Given the description of an element on the screen output the (x, y) to click on. 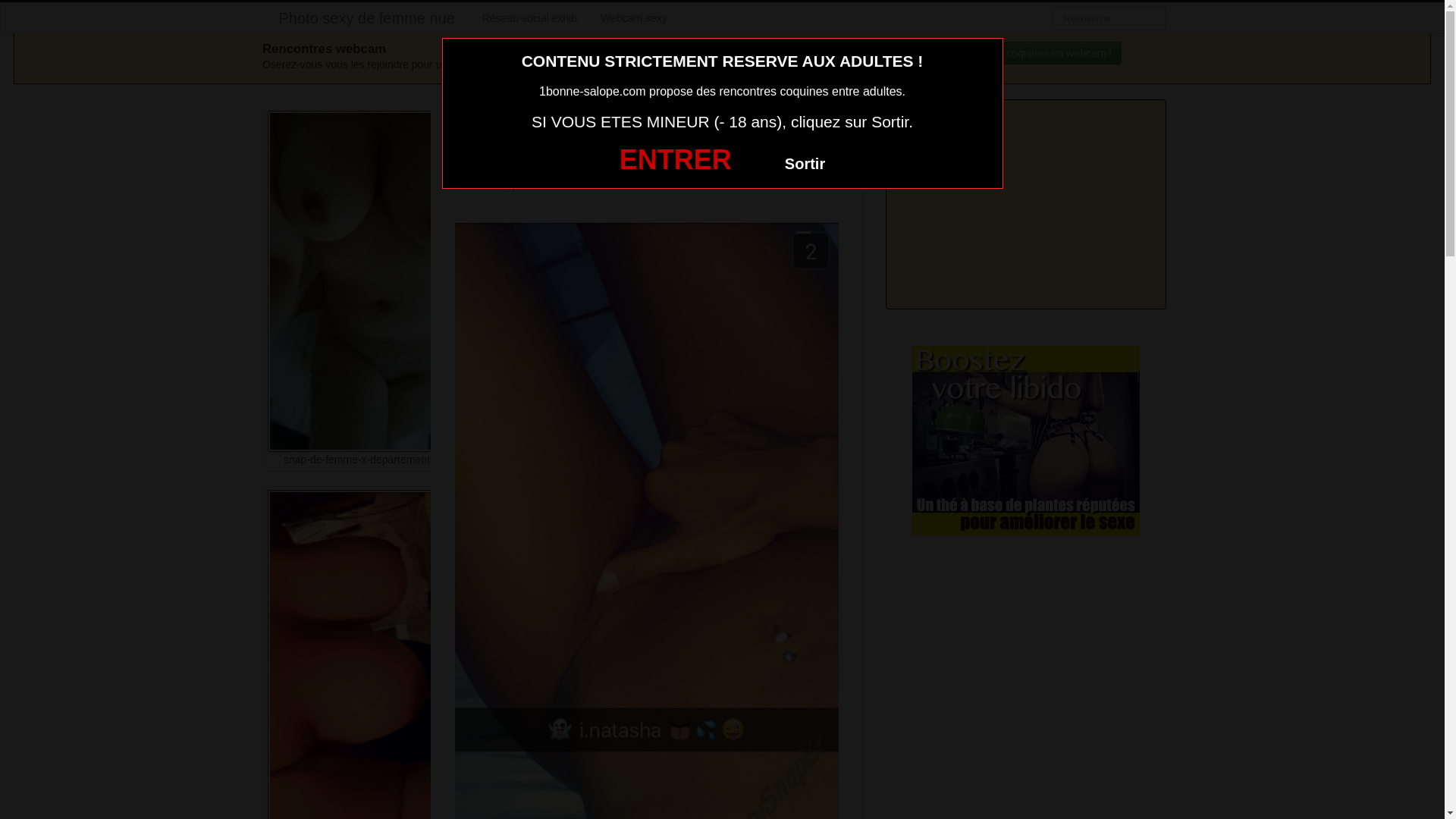
Webcam sexy Element type: text (633, 18)
Sortir Element type: text (804, 163)
snap-de-femme-x-departement-56 Element type: text (363, 369)
Photo sexy de femme nue Element type: text (366, 18)
Rejoins les coquines en webcam ! Element type: text (1025, 52)
ENTRER Element type: text (675, 159)
